Given the description of an element on the screen output the (x, y) to click on. 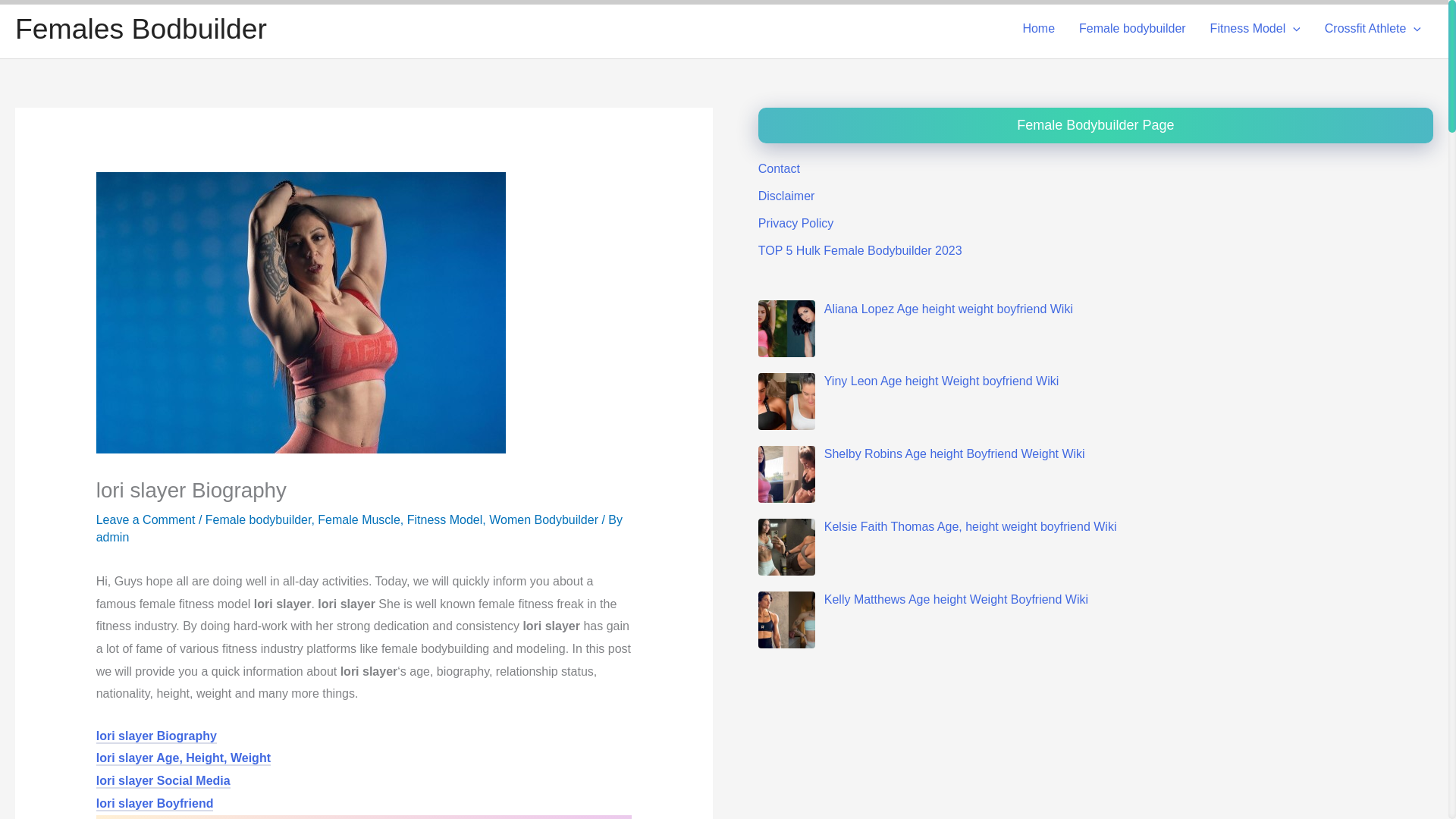
admin (112, 536)
Home (1038, 28)
lori slayer Social Media (163, 781)
Females Bodbuilder (140, 29)
Female bodybuilder (258, 518)
Disclaimer (786, 195)
Fitness Model (1255, 28)
Contact (778, 168)
Leave a Comment (145, 518)
lori slayer Boyfriend (155, 804)
